Given the description of an element on the screen output the (x, y) to click on. 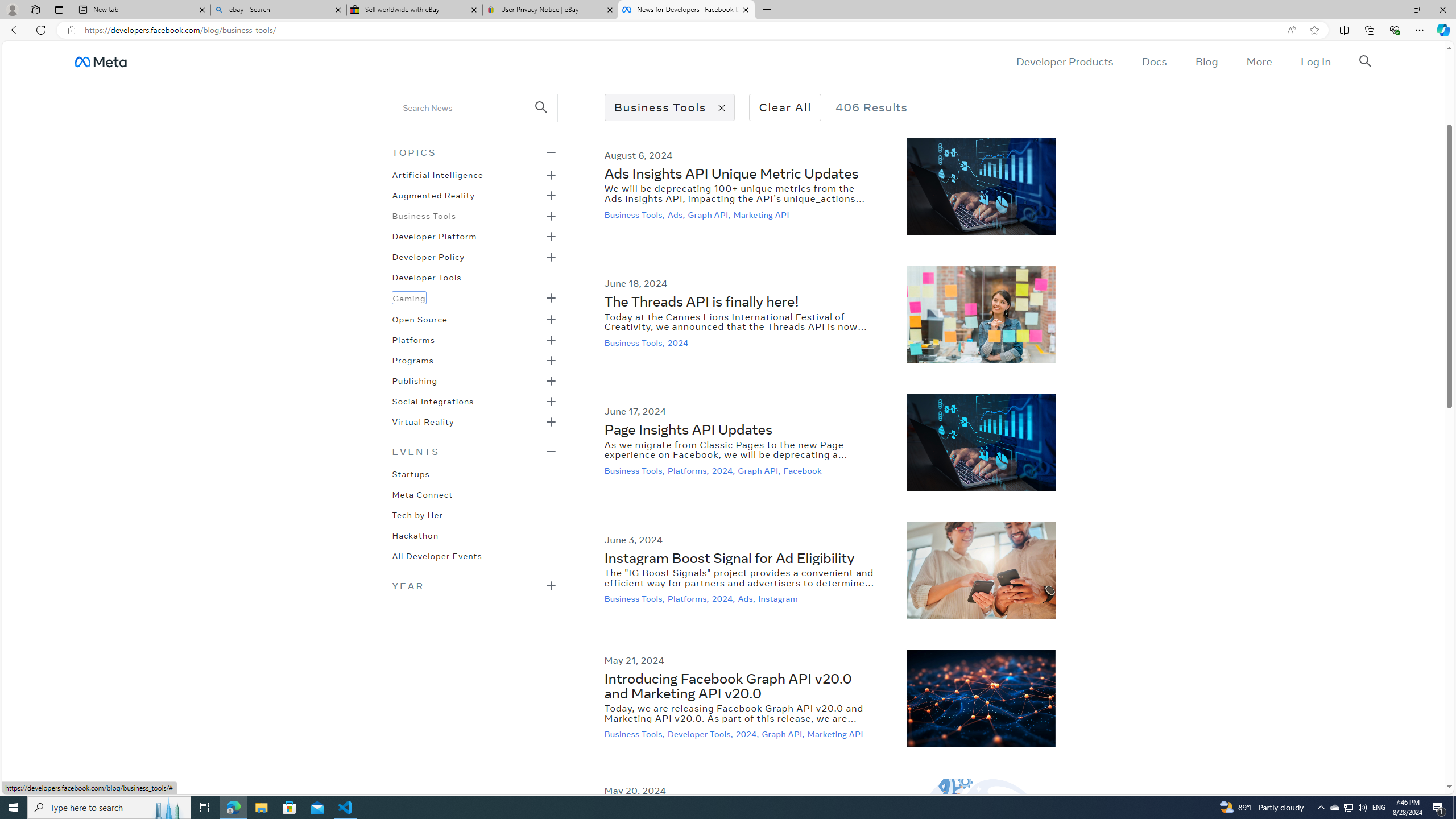
Blog (1205, 61)
